Given the description of an element on the screen output the (x, y) to click on. 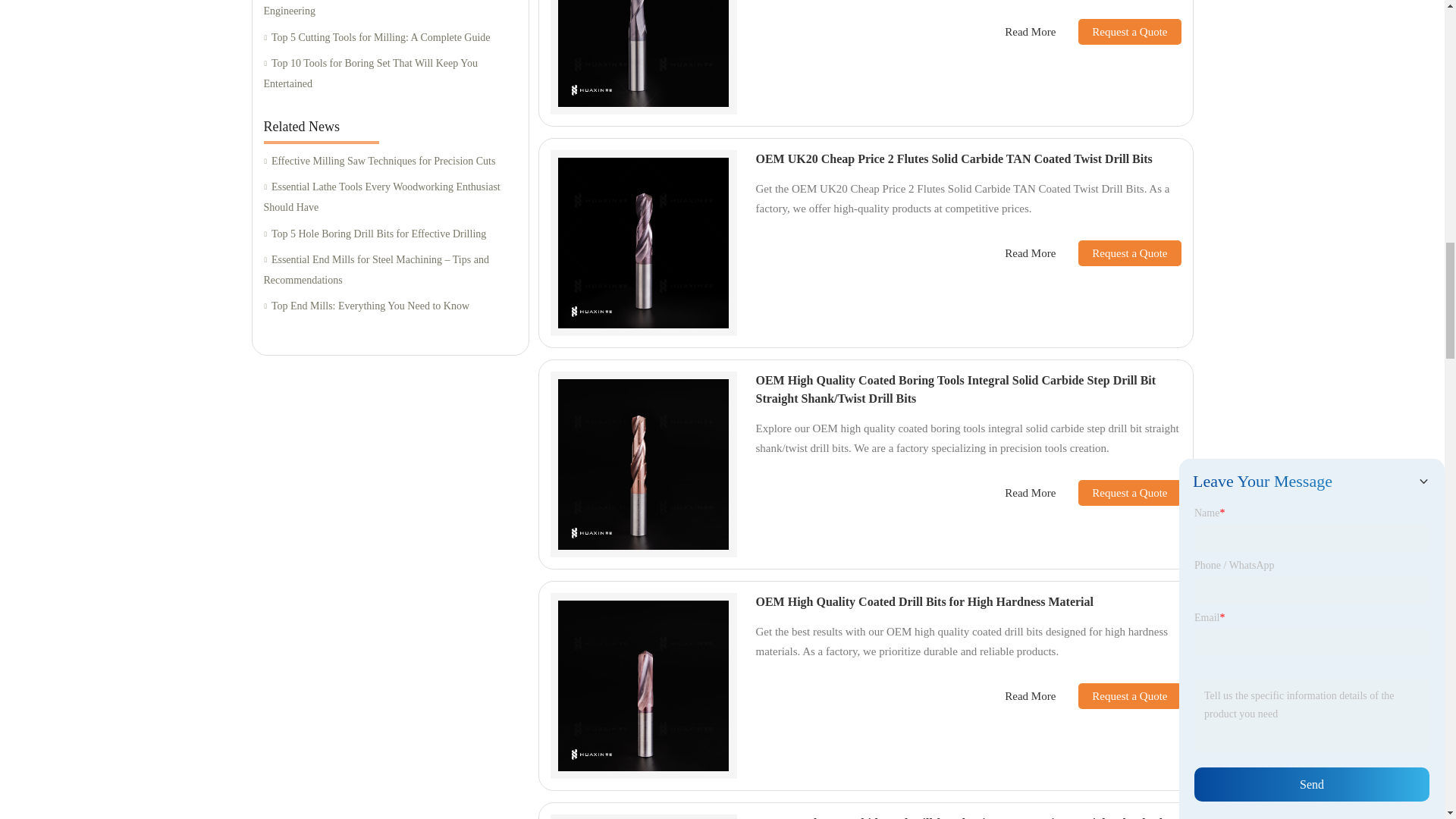
Top 10 Tools for Boring Set That Will Keep You Entertained (389, 74)
Top End Mills: Everything You Need to Know (389, 306)
Top 5 Hole Boring Drill Bits for Effective Drilling (389, 234)
Read More (1029, 31)
Effective Milling Saw Techniques for Precision Cuts (389, 161)
Top 5 Cutting Tools for Milling: A Complete Guide (389, 37)
Request a Quote (1117, 31)
